Given the description of an element on the screen output the (x, y) to click on. 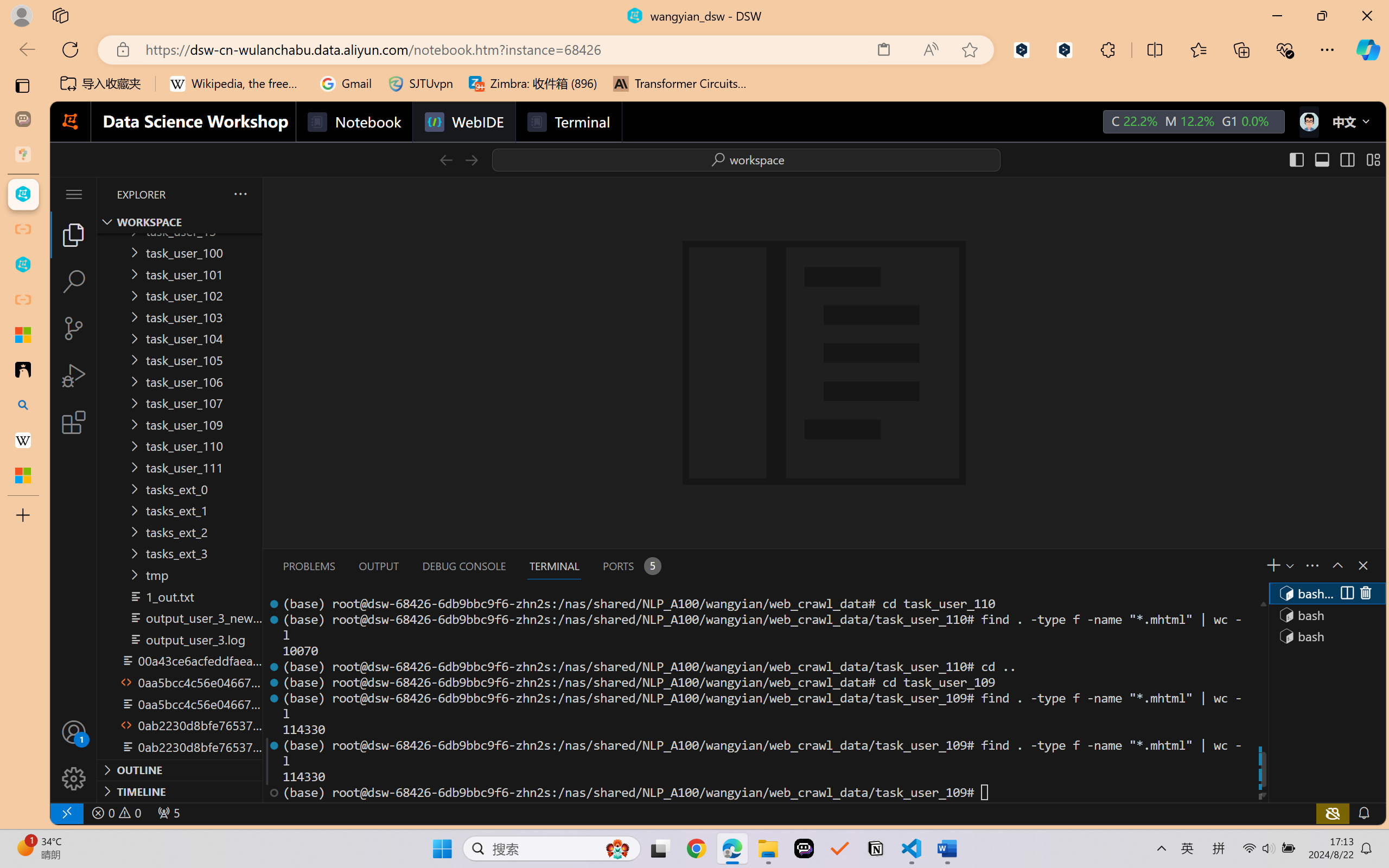
copilot-notconnected, Copilot error (click for details) (1331, 812)
Ports - 5 forwarded ports (630, 565)
Split (Ctrl+Shift+5) (1345, 593)
Manage (73, 755)
Manage (73, 778)
Toggle Primary Side Bar (Ctrl+B) (1295, 159)
